Given the description of an element on the screen output the (x, y) to click on. 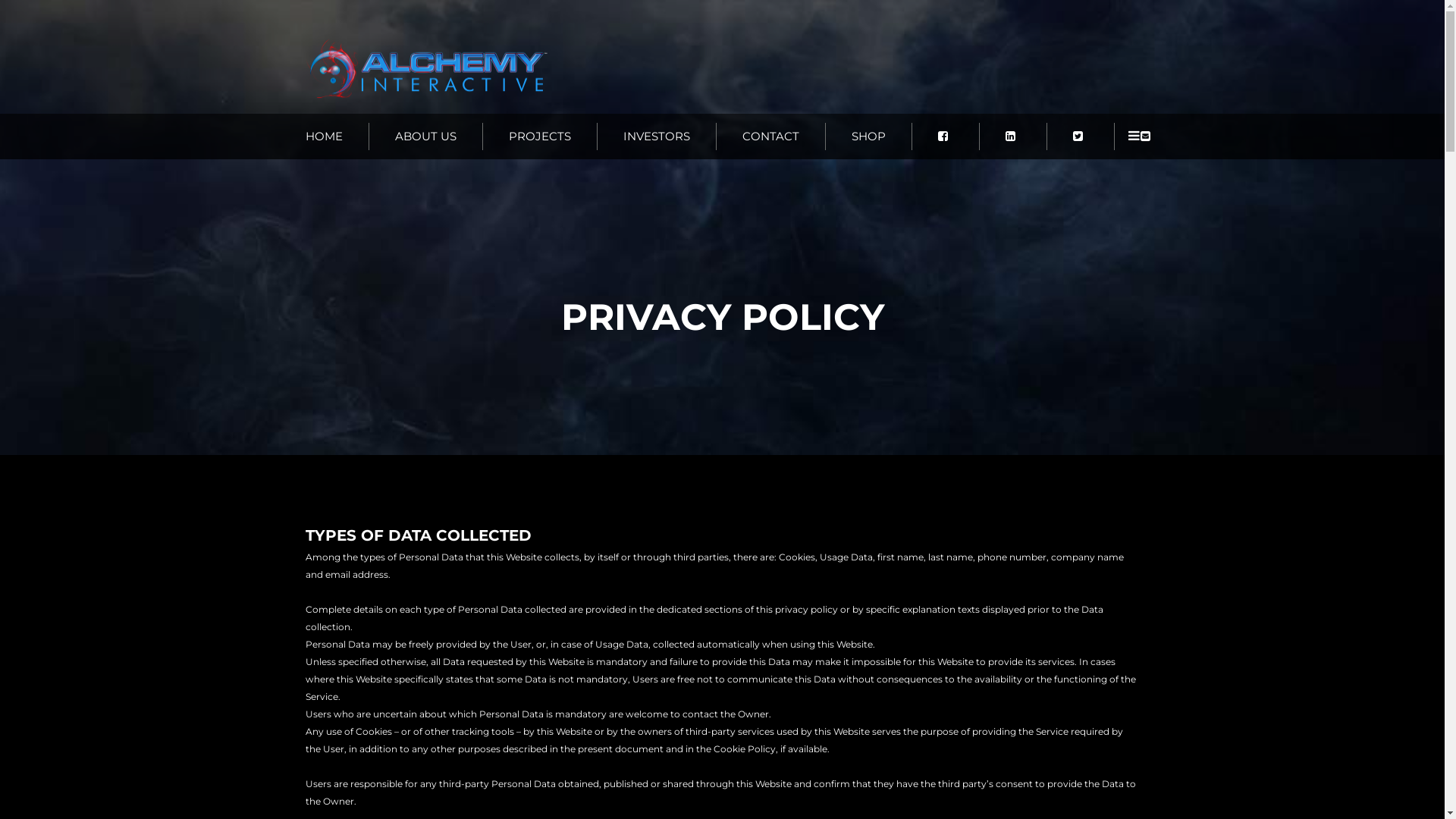
SHOP Element type: text (868, 136)
CONTACT Element type: text (770, 136)
HOME Element type: text (336, 136)
PROJECTS Element type: text (539, 136)
ABOUT US Element type: text (425, 136)
INVESTORS Element type: text (656, 136)
